Given the description of an element on the screen output the (x, y) to click on. 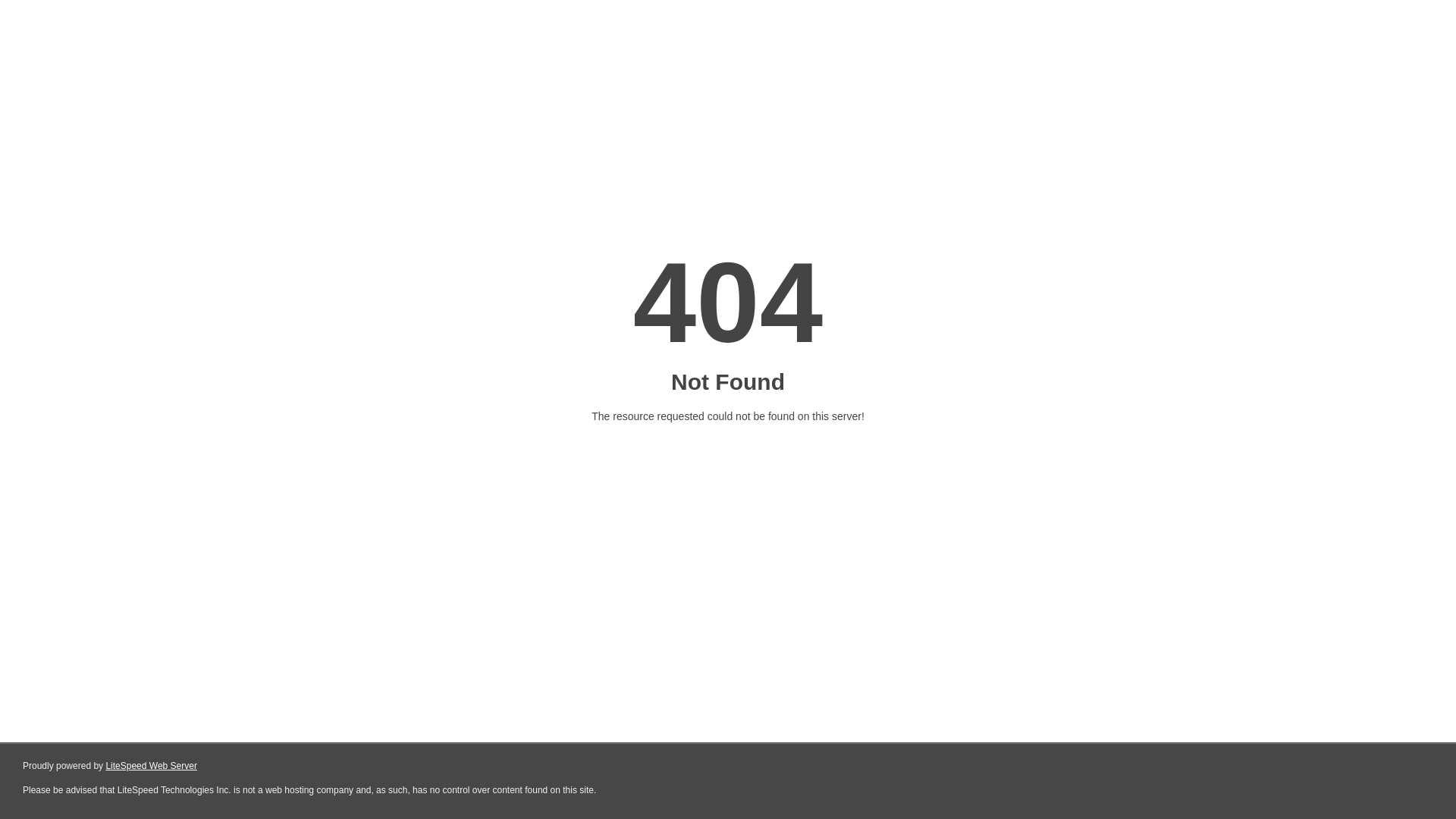
LiteSpeed Web Server Element type: text (151, 765)
